Given the description of an element on the screen output the (x, y) to click on. 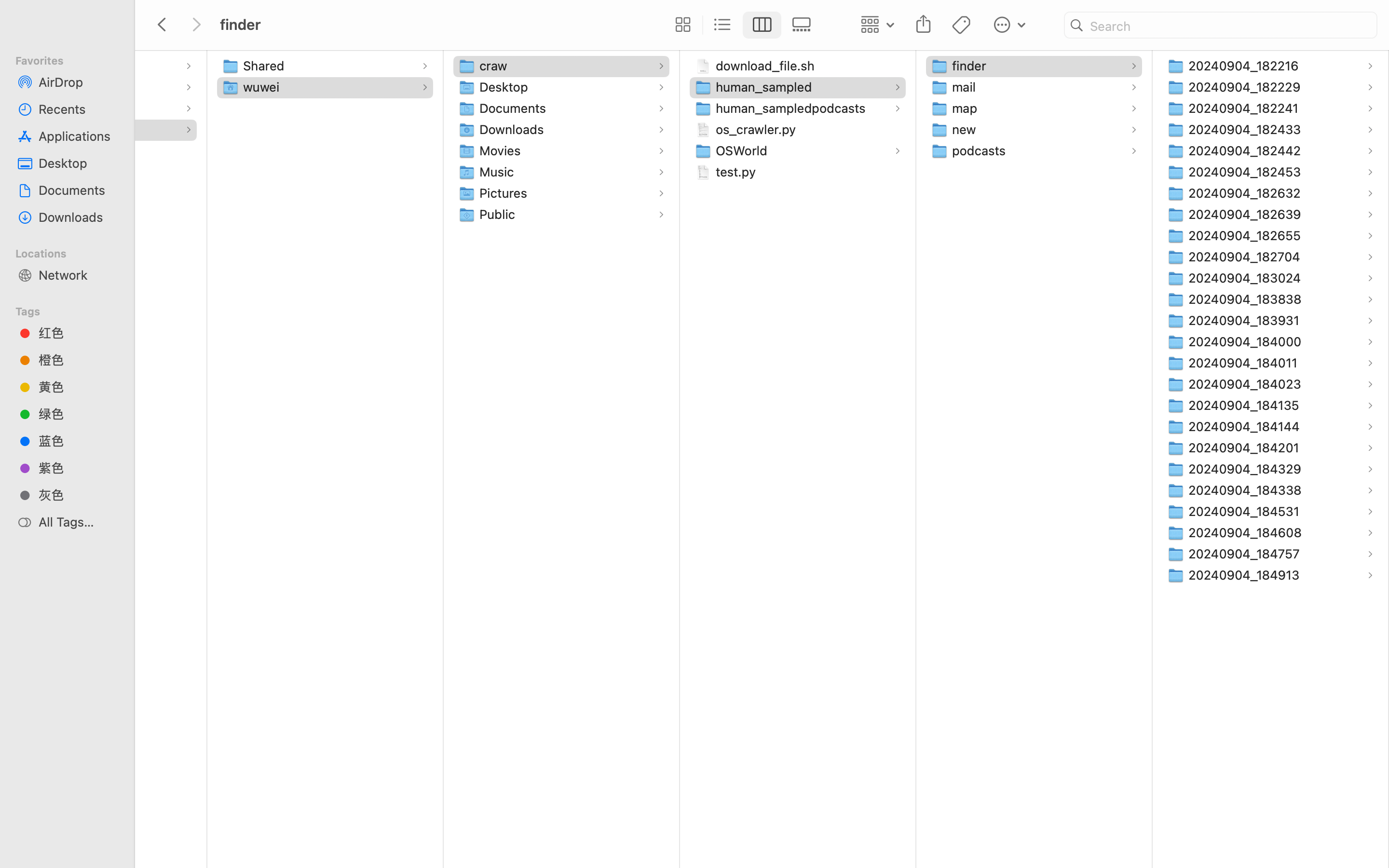
20240904_182229 Element type: AXTextField (1246, 86)
finder Element type: AXTextField (971, 65)
20240904_184011 Element type: AXTextField (1245, 362)
20240904_182632 Element type: AXTextField (1246, 192)
Tags… Element type: AXStaticText (20, 860)
